Given the description of an element on the screen output the (x, y) to click on. 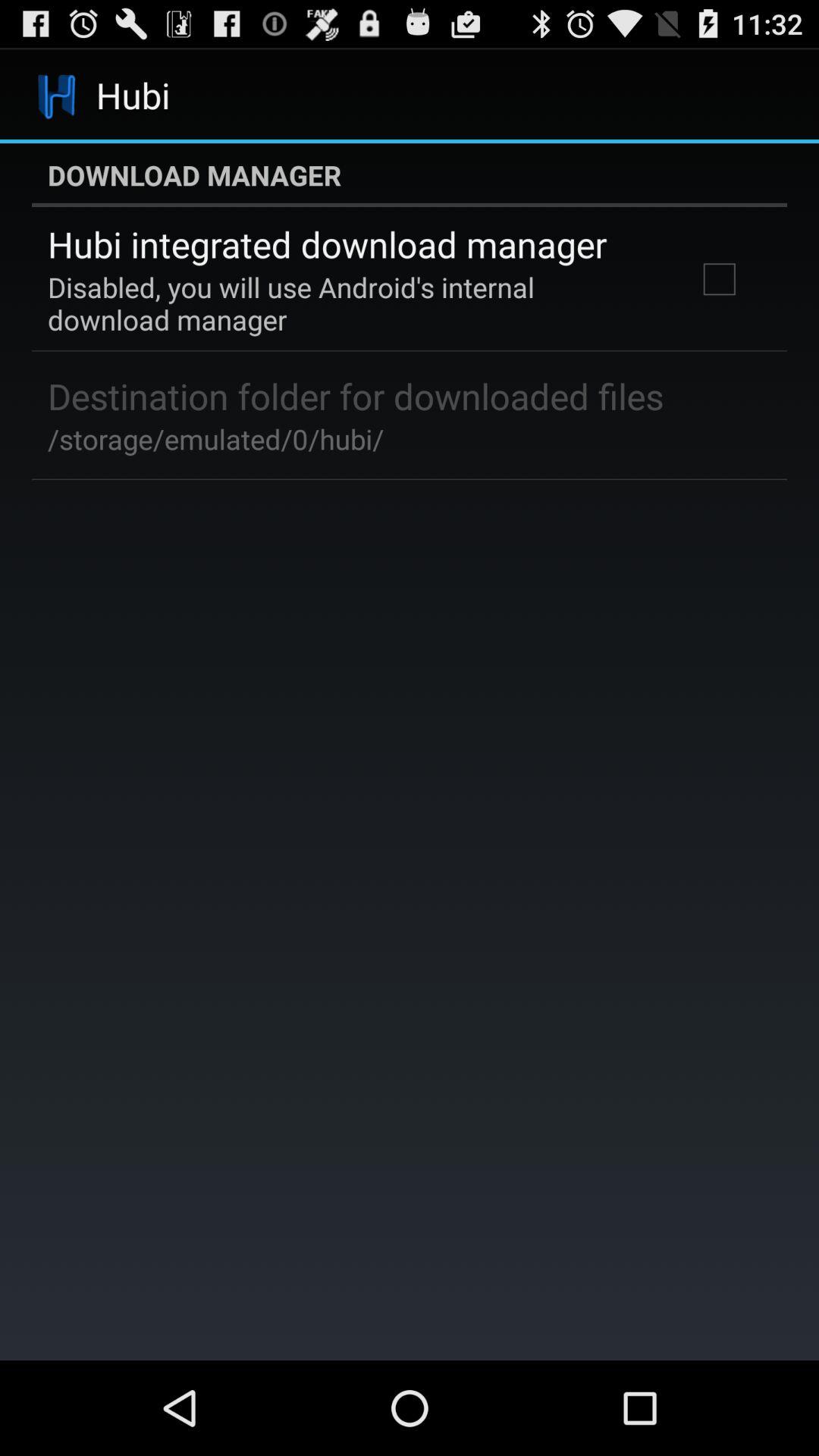
choose item at the top right corner (719, 279)
